Given the description of an element on the screen output the (x, y) to click on. 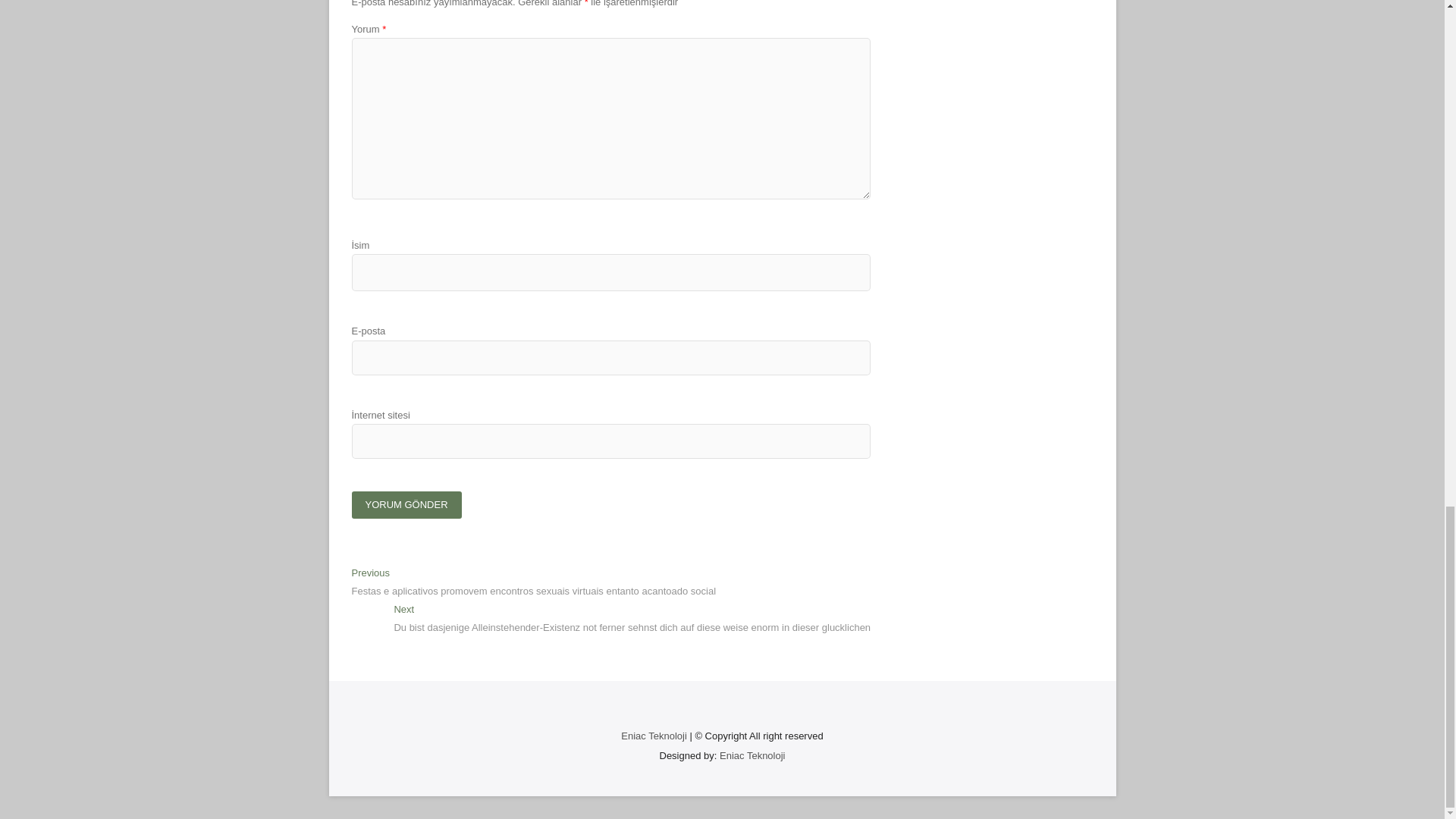
Eniac Teknoloji (653, 736)
Eniac Teknoloji (653, 736)
Eniac Teknoloji (751, 755)
Eniac Teknoloji (751, 755)
